Given the description of an element on the screen output the (x, y) to click on. 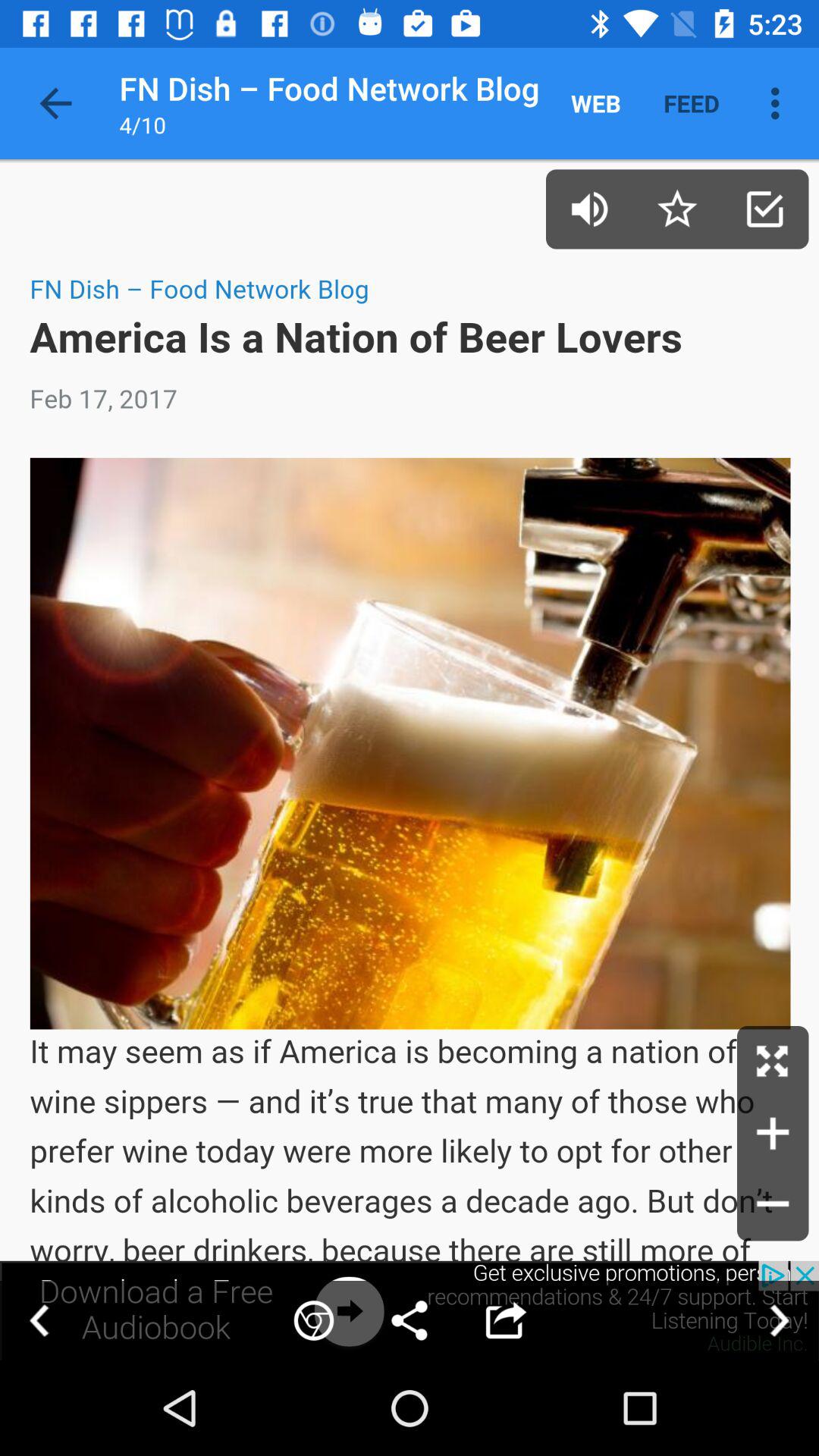
full screen (772, 1061)
